Given the description of an element on the screen output the (x, y) to click on. 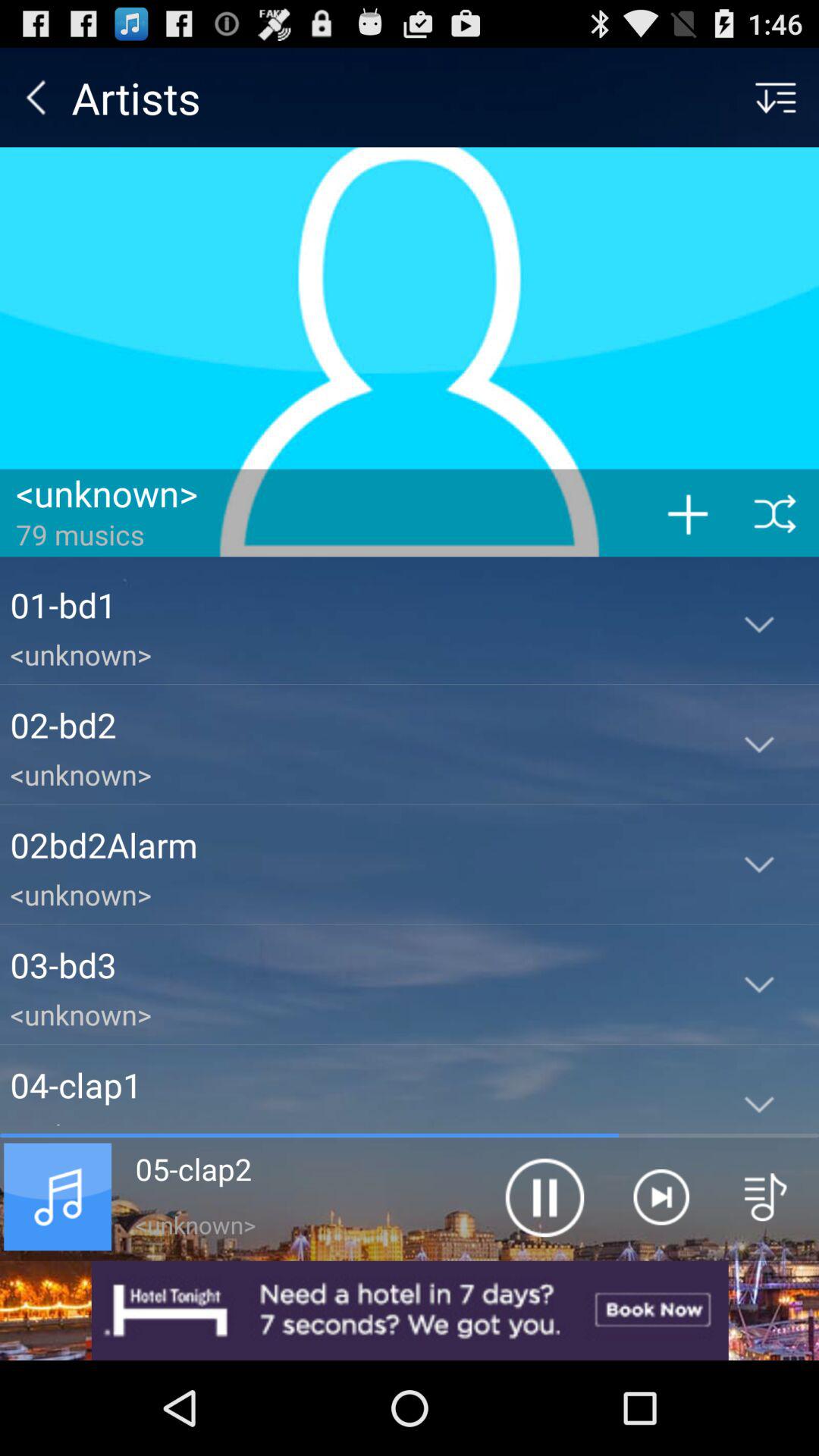
press the app next to artists item (35, 97)
